Given the description of an element on the screen output the (x, y) to click on. 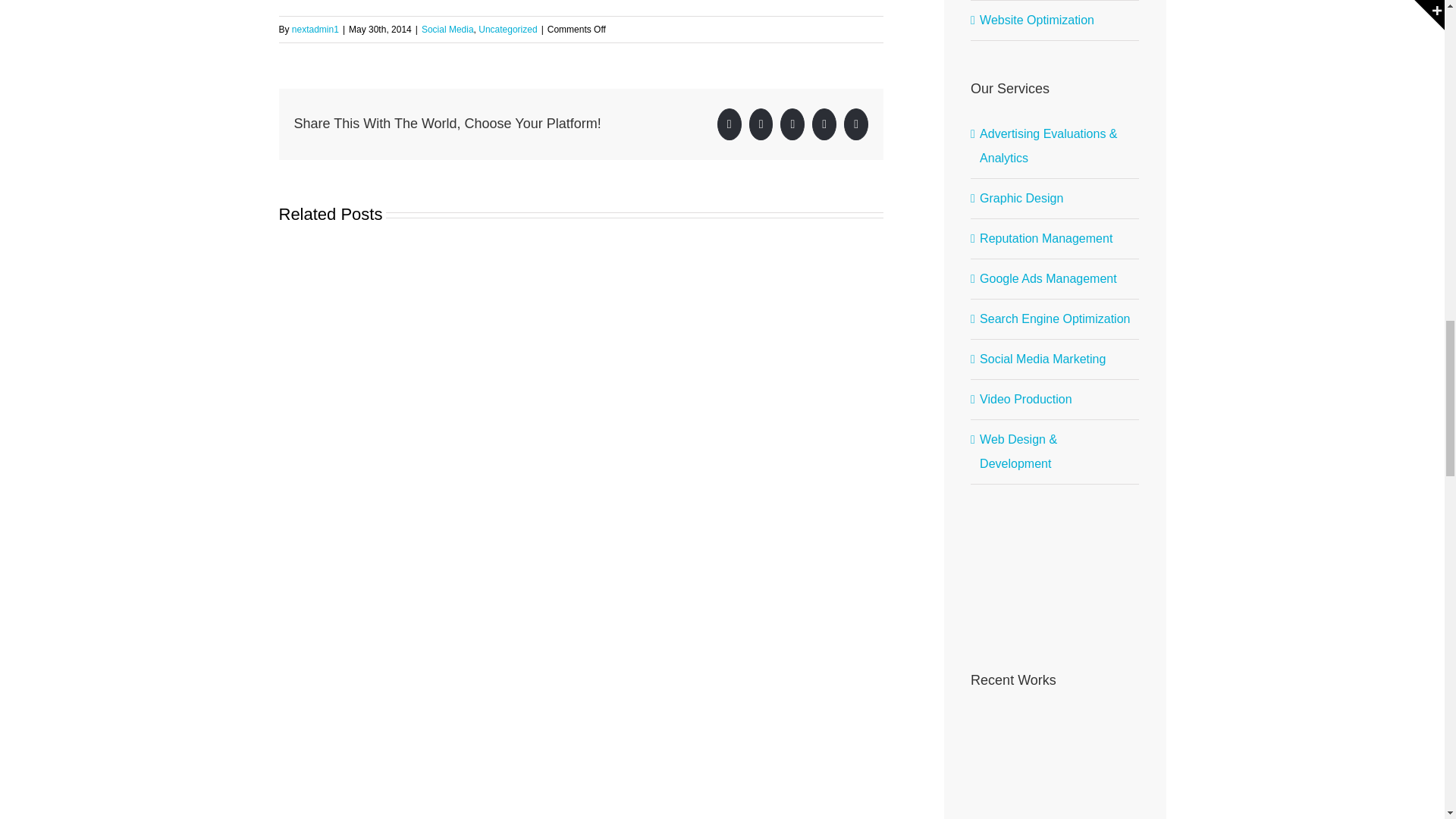
Posts by nextadmin1 (315, 29)
Social Media (448, 29)
White Myrtle LLC (1052, 740)
Uncategorized (508, 29)
The Penuel Foundation (997, 740)
nextadmin1 (315, 29)
